Given the description of an element on the screen output the (x, y) to click on. 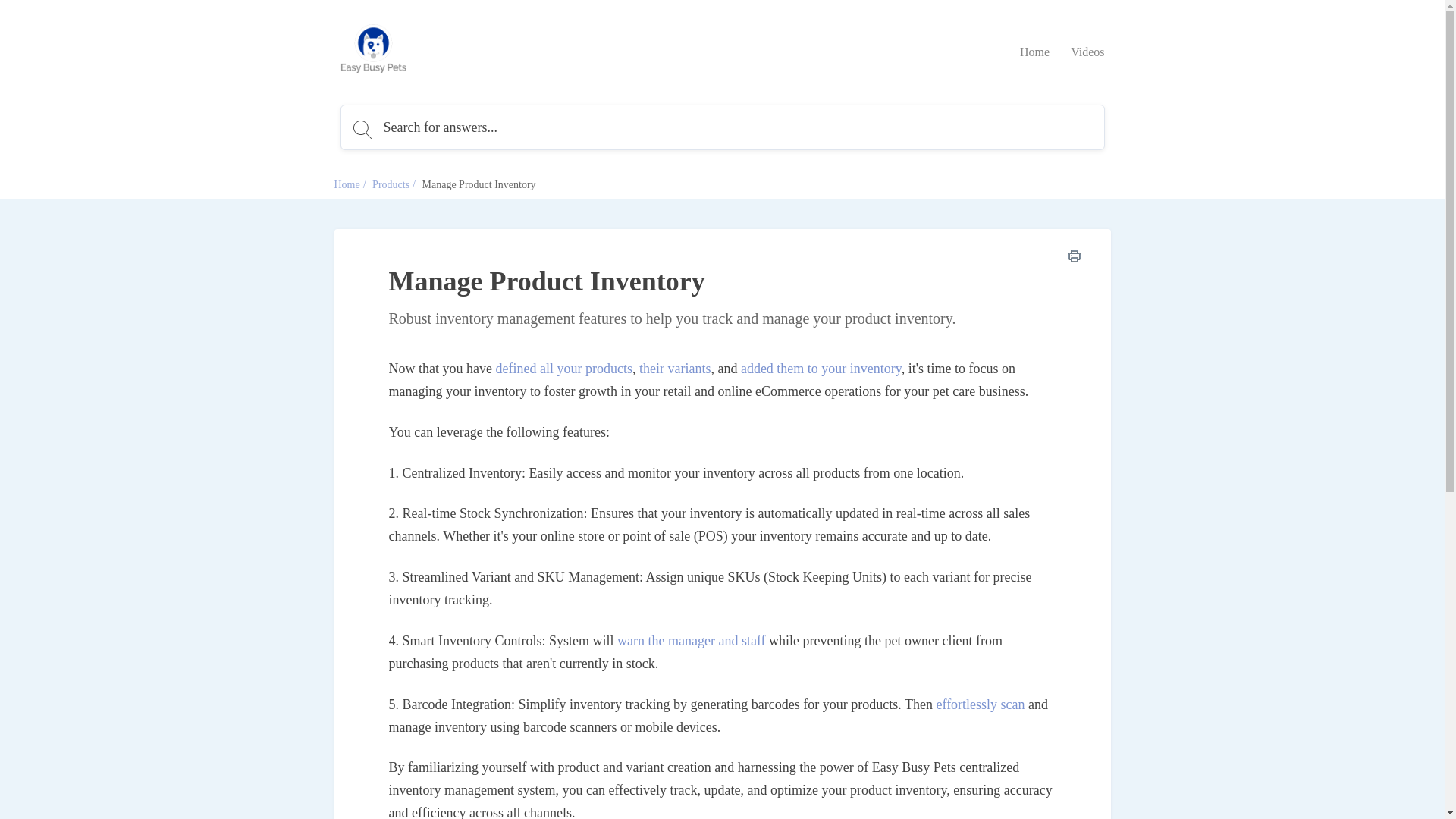
added them to your inventory (821, 368)
defined all your products (563, 368)
warn the manager and staff (691, 640)
Home (1034, 52)
Videos (1086, 52)
effortlessly scan (980, 703)
Home (346, 184)
Products (390, 184)
their variants (674, 368)
